Given the description of an element on the screen output the (x, y) to click on. 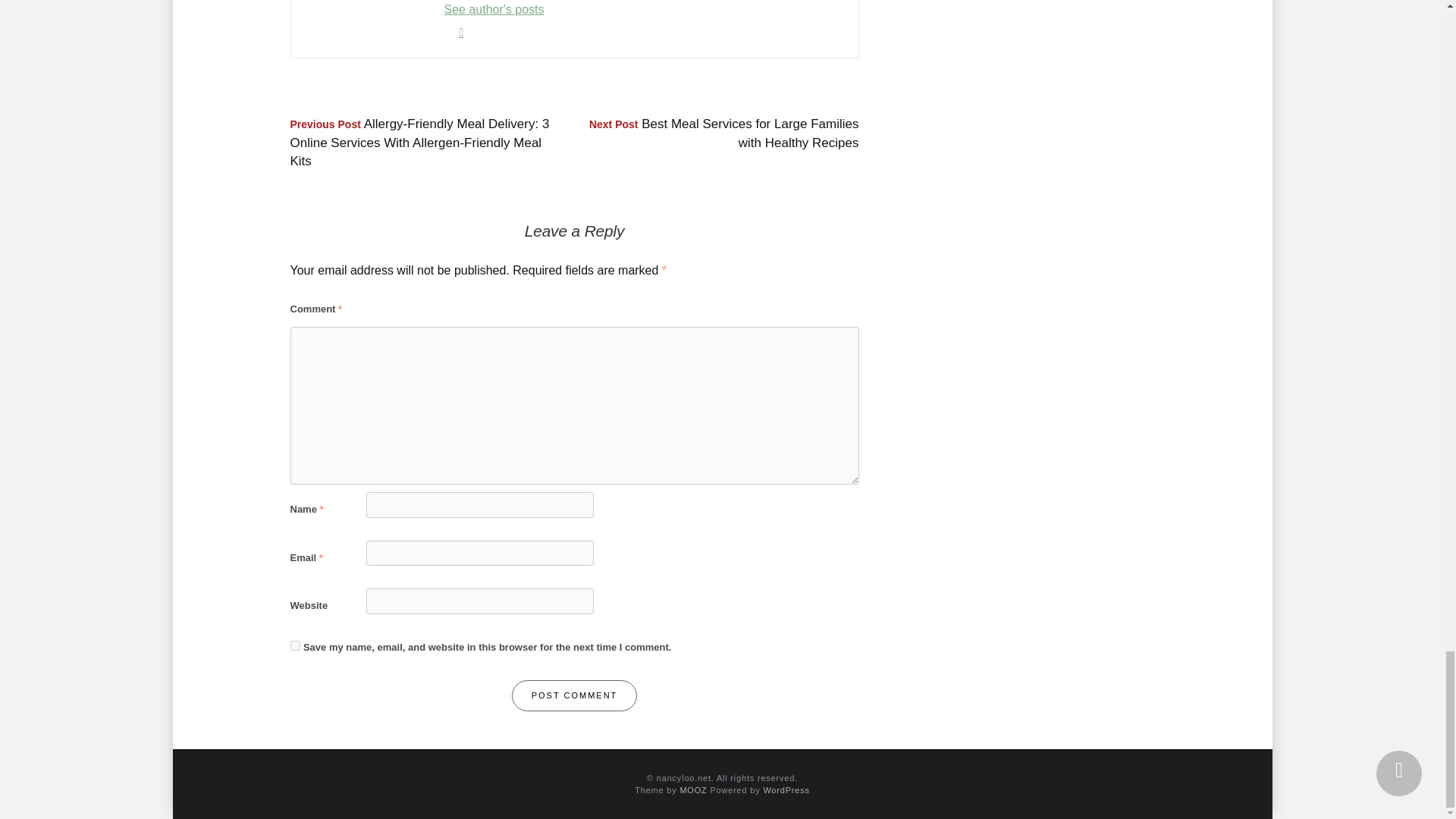
WordPress (785, 789)
yes (294, 645)
See author's posts (494, 9)
Post Comment (574, 695)
MOOZ (692, 789)
Post Comment (574, 695)
